Given the description of an element on the screen output the (x, y) to click on. 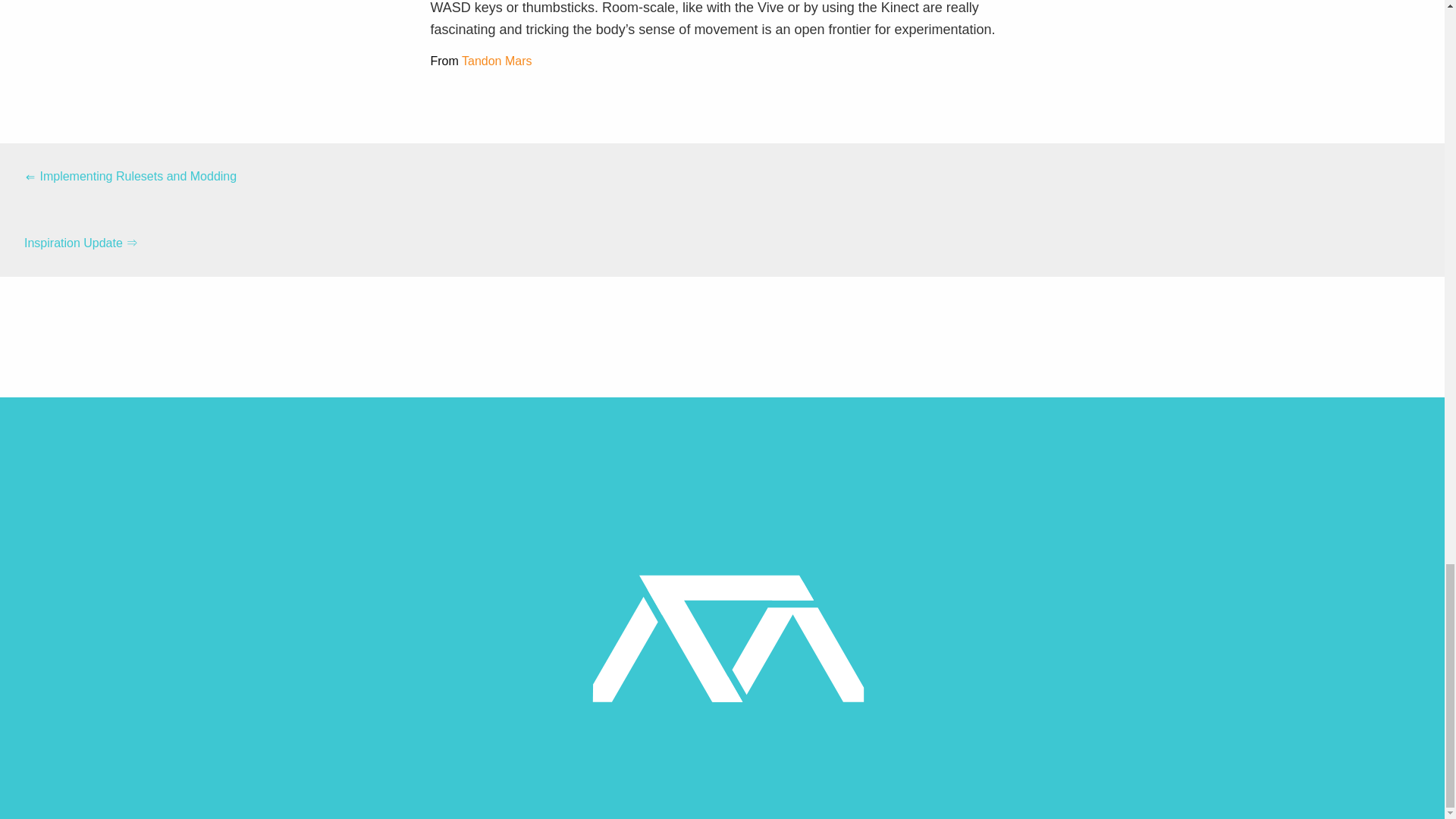
Tandon Mars (496, 60)
Matthew Conto (728, 636)
